Given the description of an element on the screen output the (x, y) to click on. 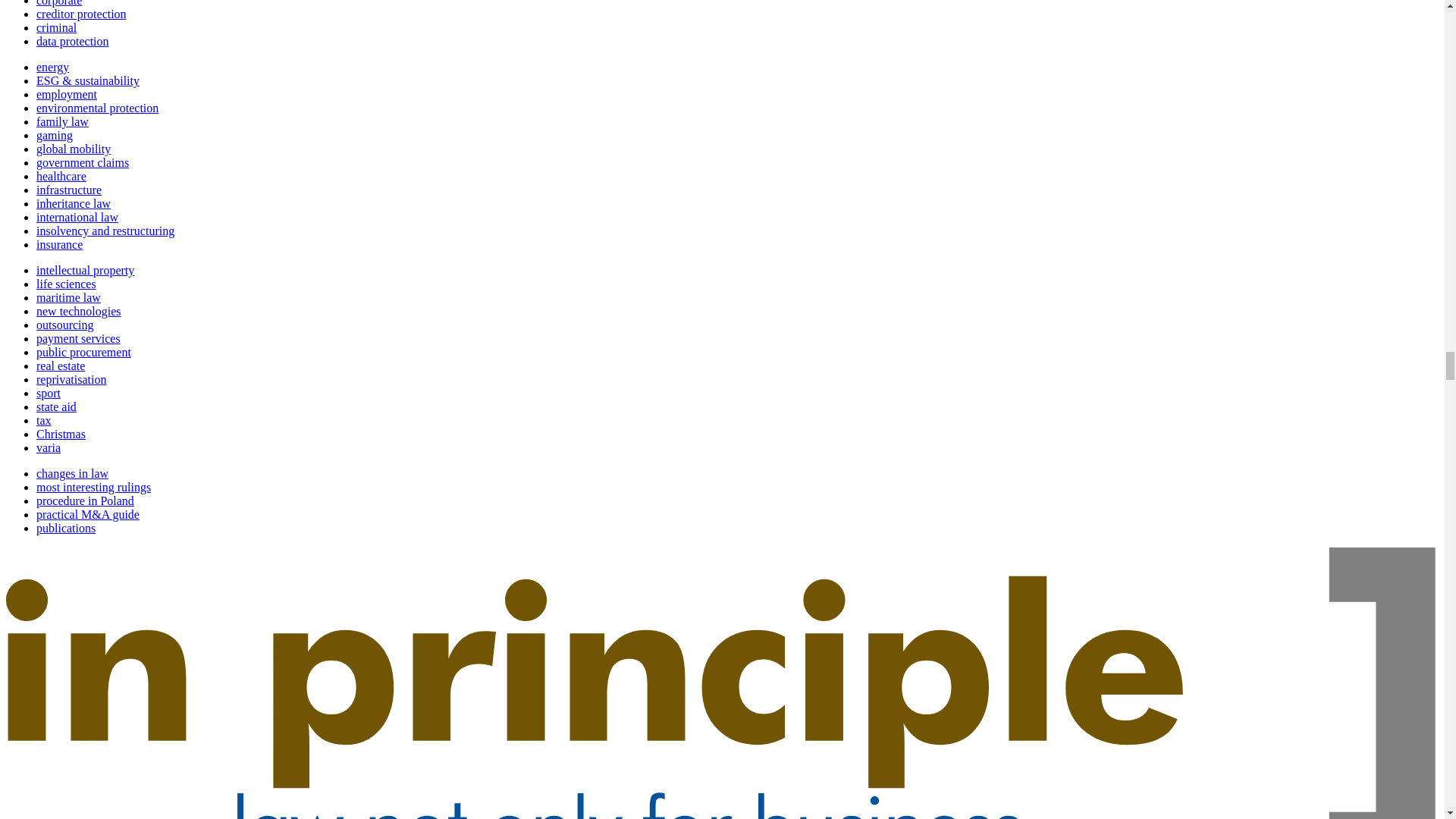
family law (62, 121)
inheritance law (73, 203)
criminal (56, 27)
insolvency and restructuring (105, 230)
government claims (82, 162)
data protection (72, 41)
creditor protection (81, 13)
healthcare (60, 175)
employment (66, 93)
energy (52, 66)
insurance (59, 244)
intellectual property (84, 269)
global mobility (73, 148)
corporate (58, 3)
gaming (54, 134)
